Given the description of an element on the screen output the (x, y) to click on. 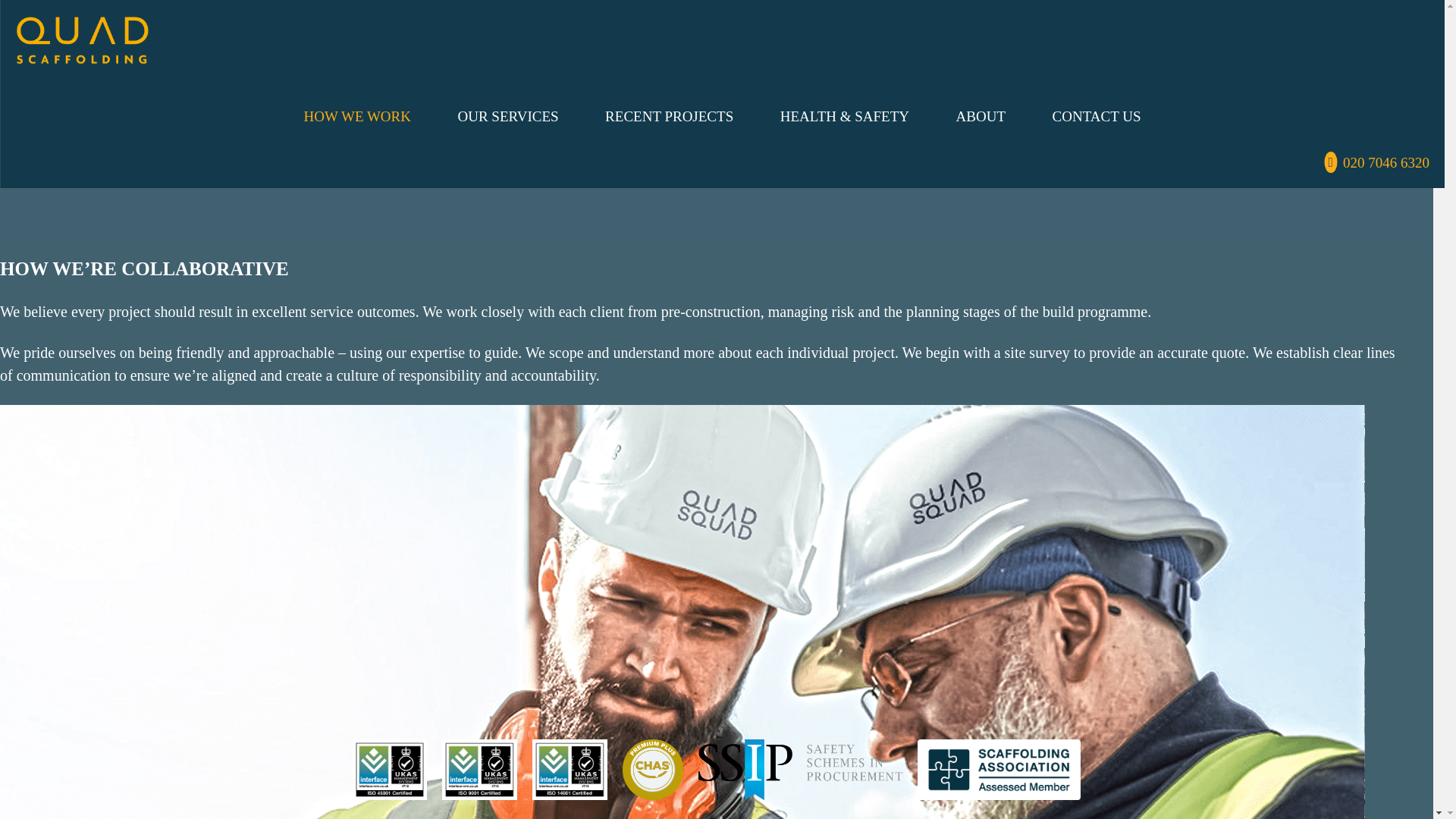
HOW WE WORK (358, 116)
OUR SERVICES (507, 116)
CONTACT US (1096, 116)
RECENT PROJECTS (668, 116)
ABOUT (981, 116)
